Given the description of an element on the screen output the (x, y) to click on. 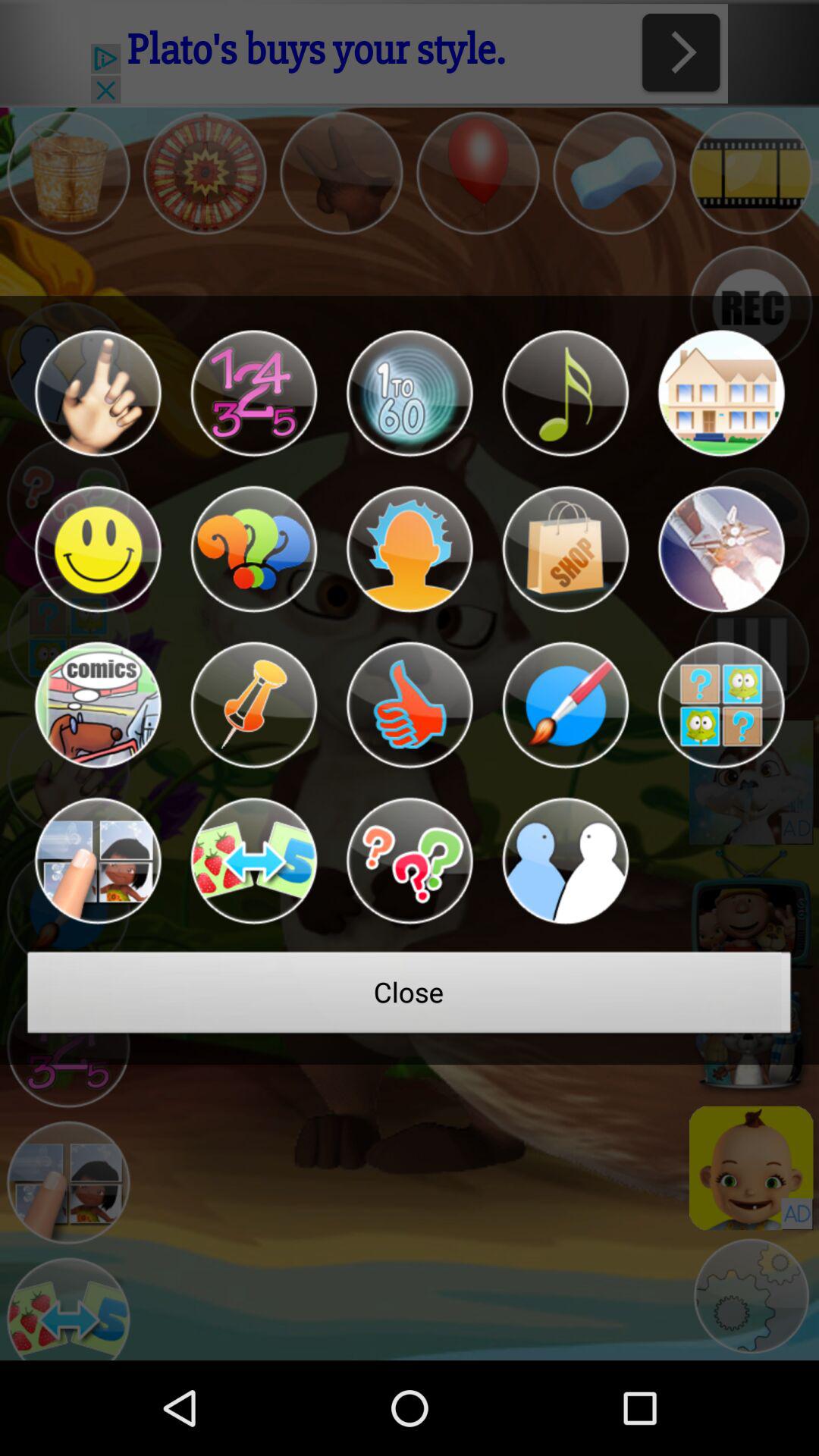
choose the close button (409, 996)
